Given the description of an element on the screen output the (x, y) to click on. 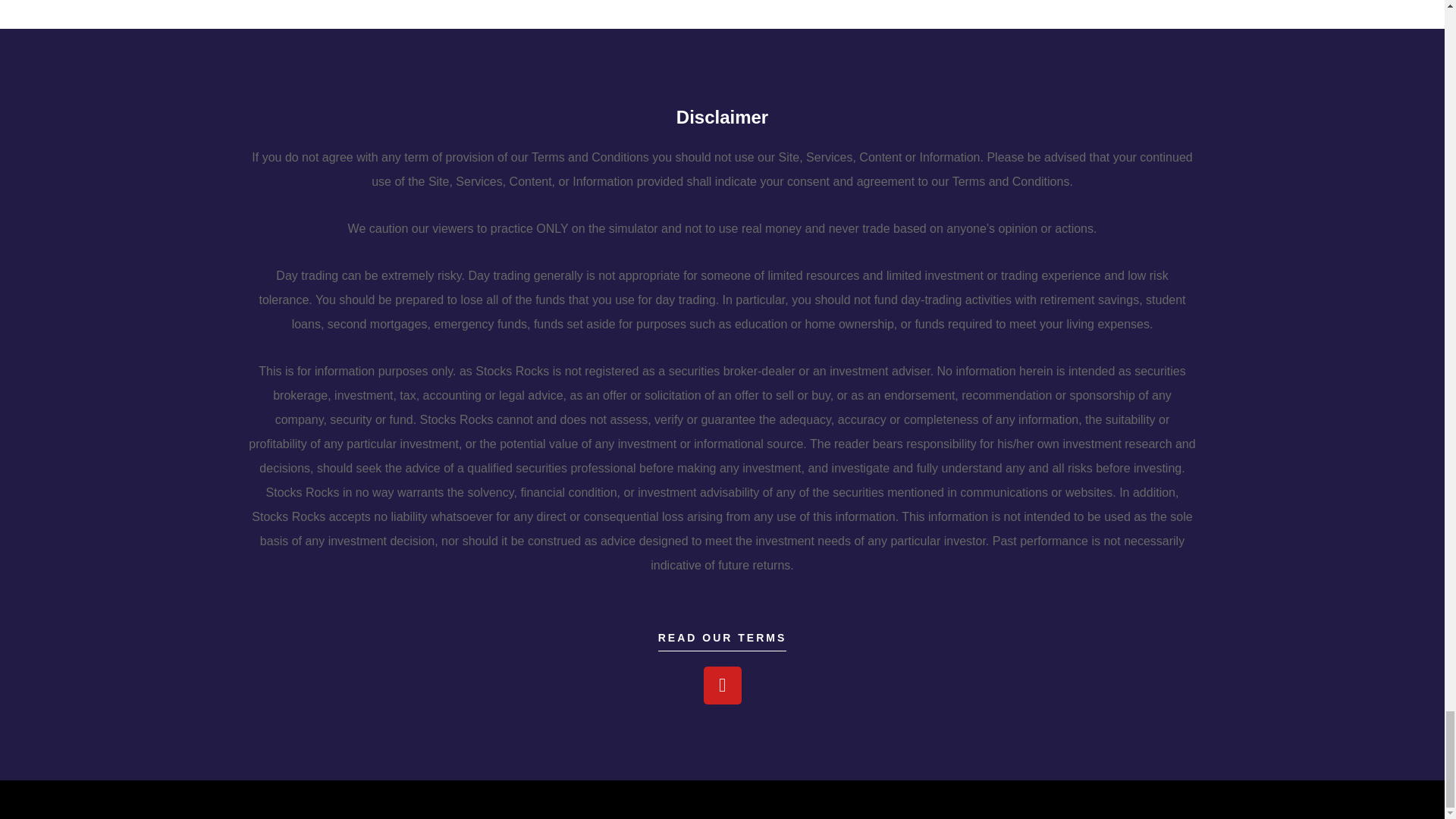
WordPress (410, 799)
Neve (302, 799)
READ OUR TERMS (722, 641)
